Given the description of an element on the screen output the (x, y) to click on. 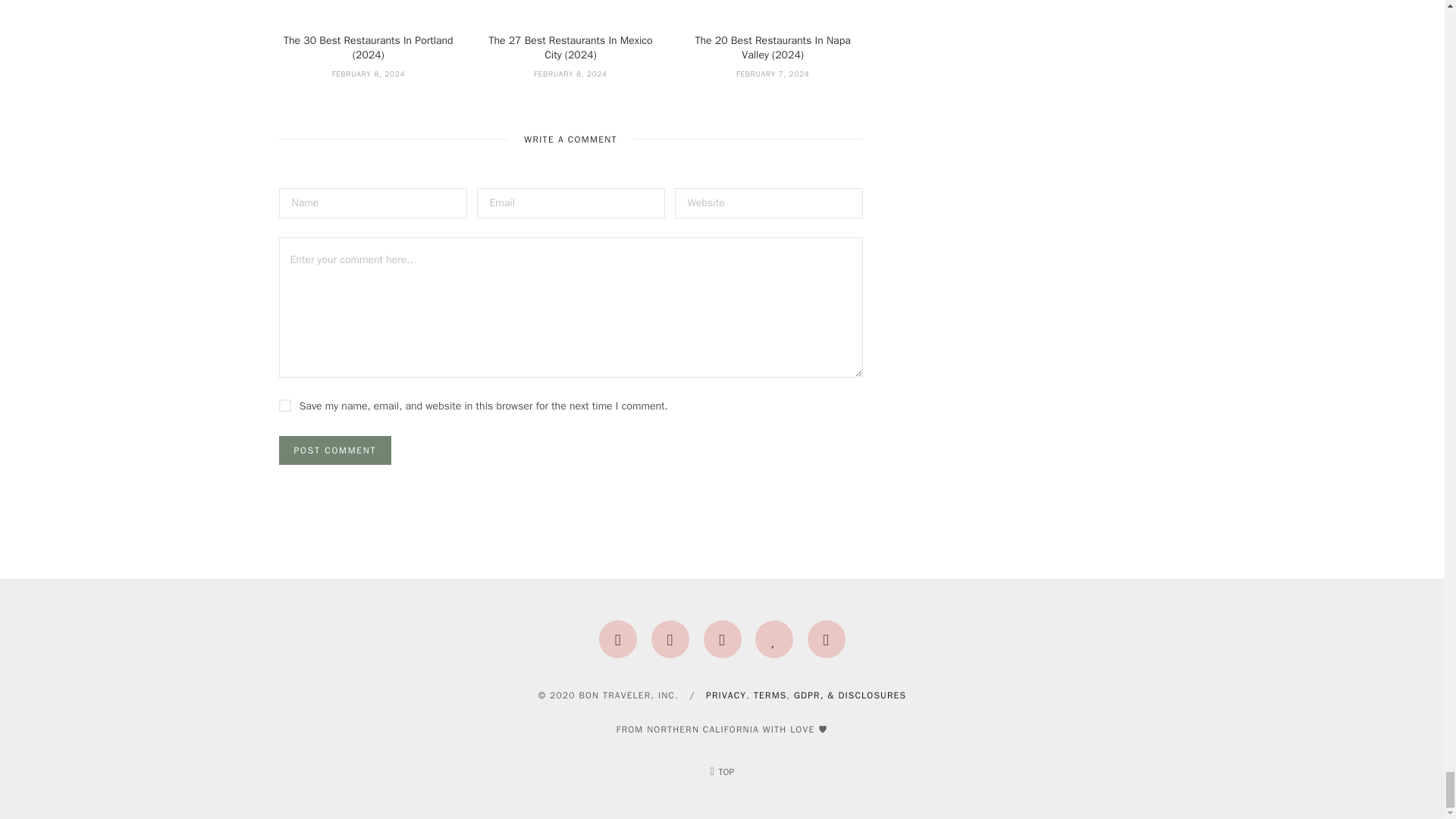
Facebook (722, 638)
yes (285, 405)
Instagram (617, 638)
Pinterest (669, 638)
Post Comment (335, 450)
